Given the description of an element on the screen output the (x, y) to click on. 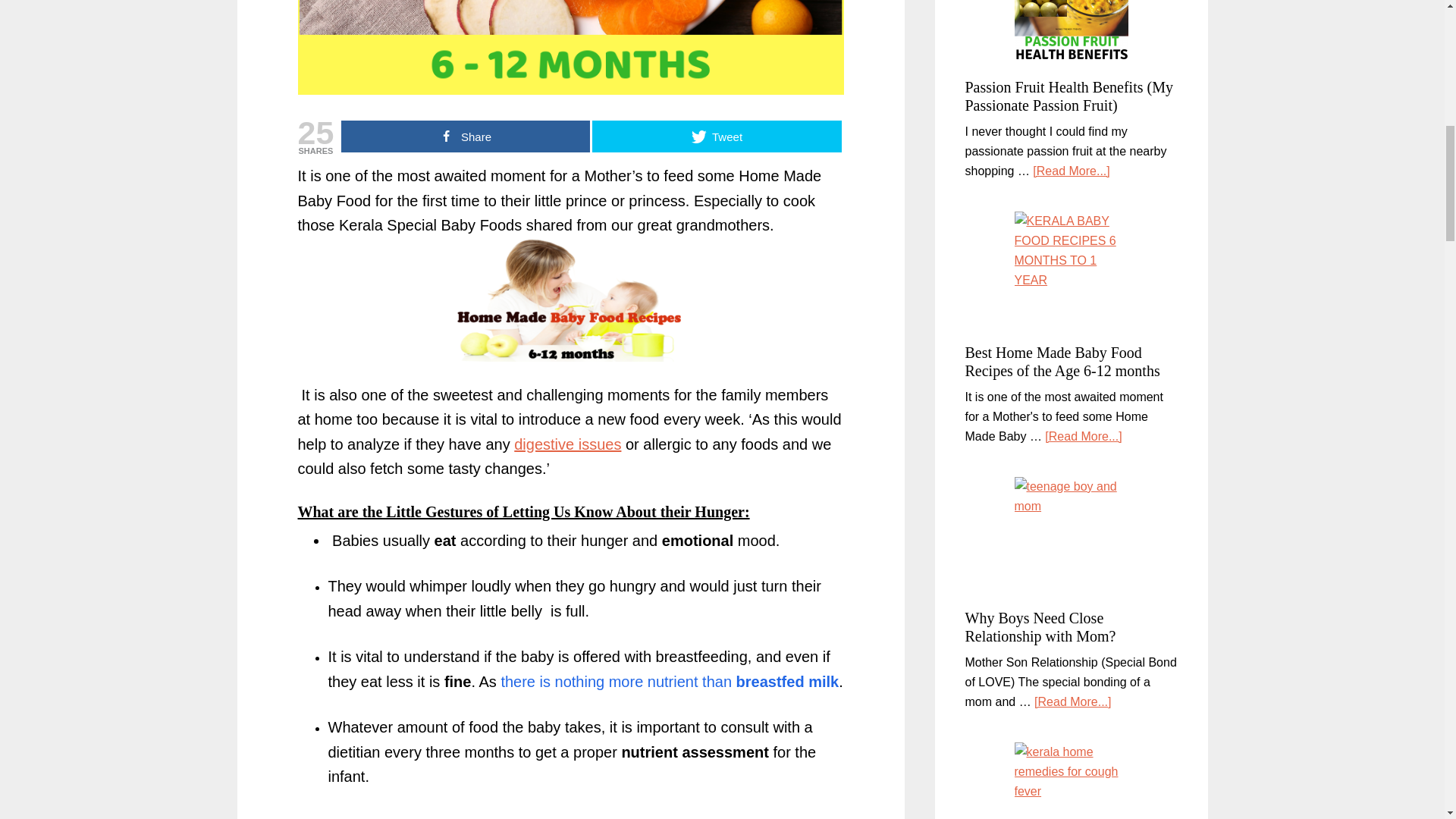
Tweet (716, 136)
Share (464, 136)
digestive issues (567, 443)
